Given the description of an element on the screen output the (x, y) to click on. 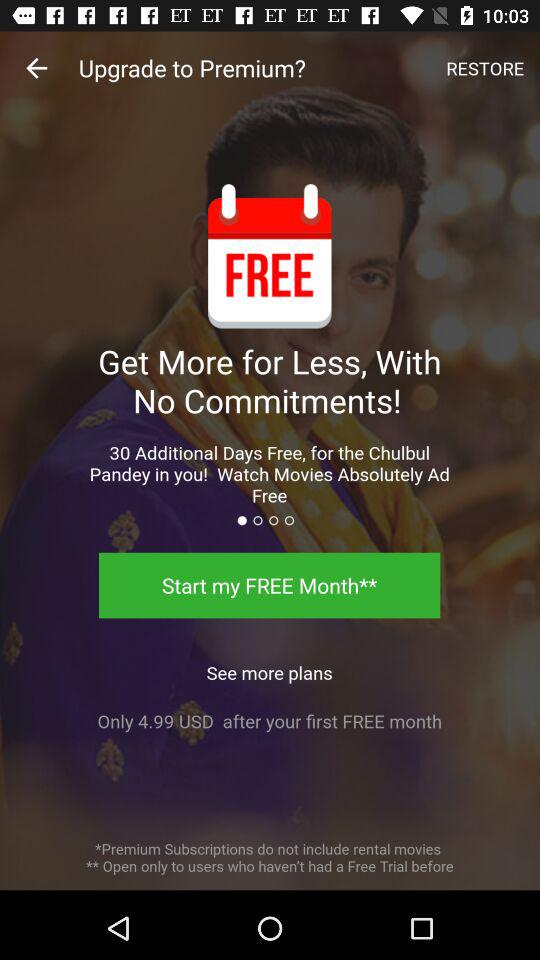
open the item at the top left corner (36, 68)
